Given the description of an element on the screen output the (x, y) to click on. 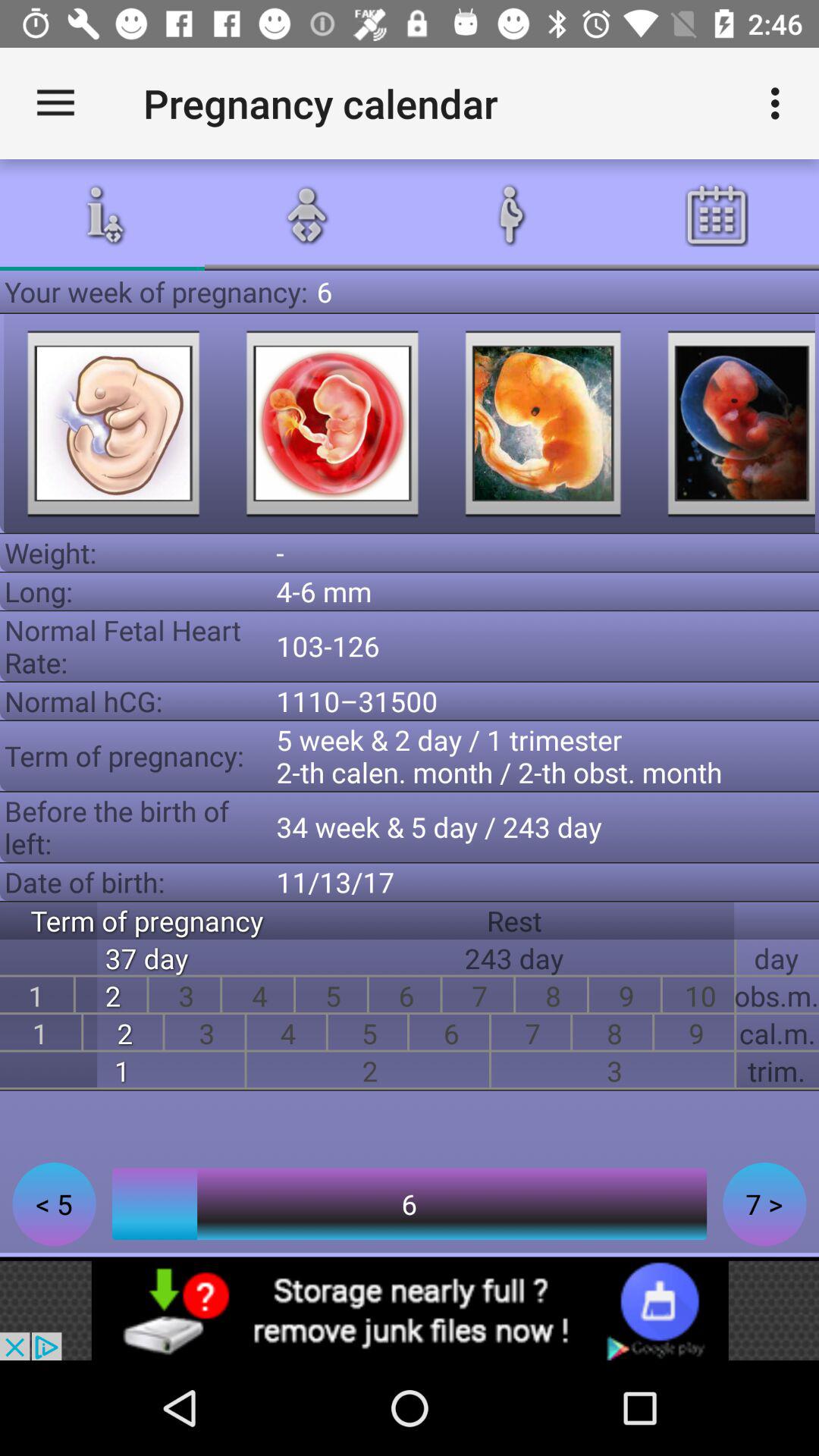
pregnancy terms (112, 422)
